Given the description of an element on the screen output the (x, y) to click on. 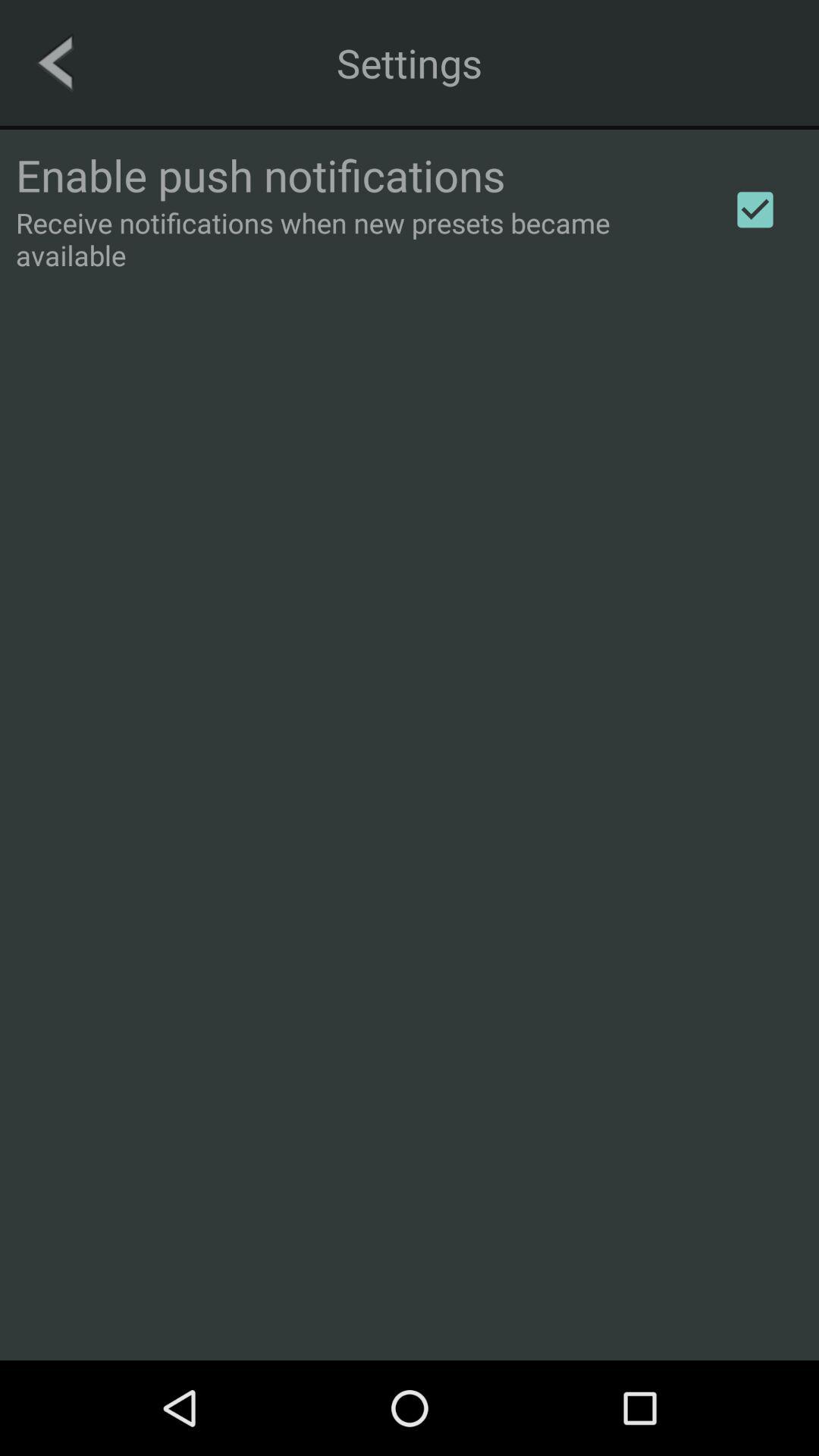
open the icon next to the settings (54, 62)
